Given the description of an element on the screen output the (x, y) to click on. 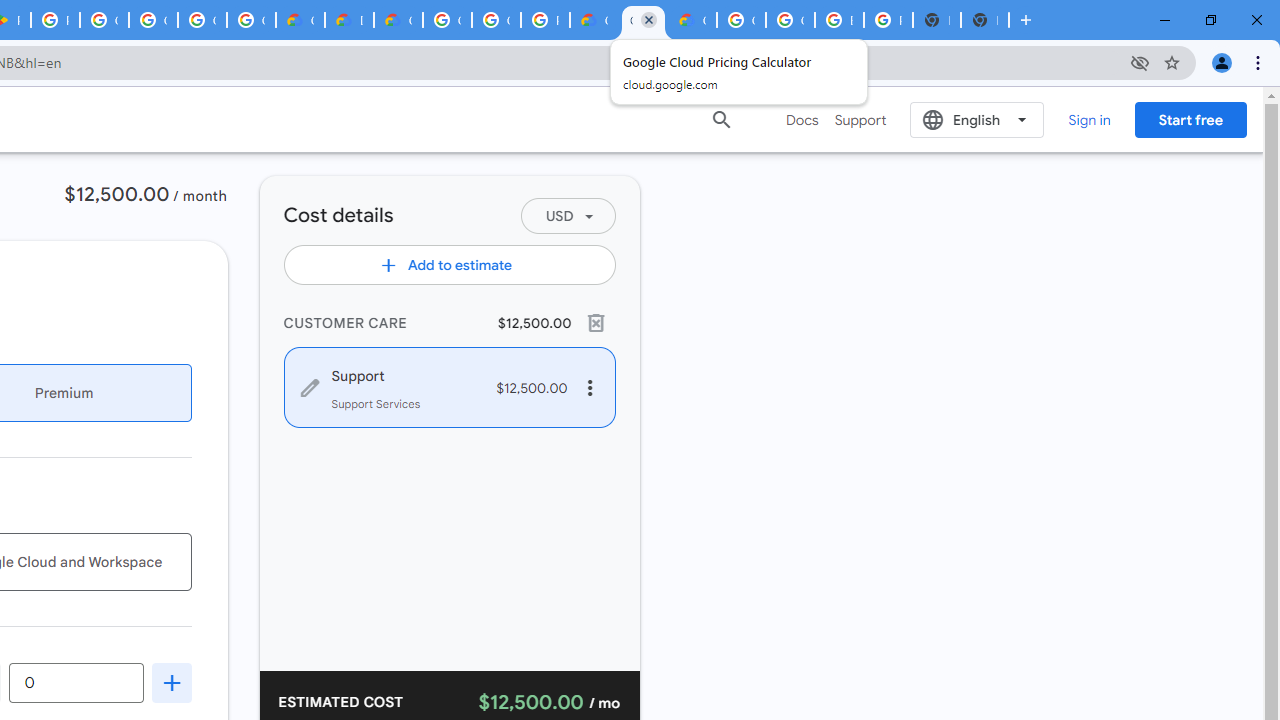
Rename Support (399, 374)
More options (589, 387)
Start free (1190, 119)
New Tab (984, 20)
Google Cloud monthly charges* tooltip (76, 682)
Increment (171, 682)
Google Cloud Platform (447, 20)
